Given the description of an element on the screen output the (x, y) to click on. 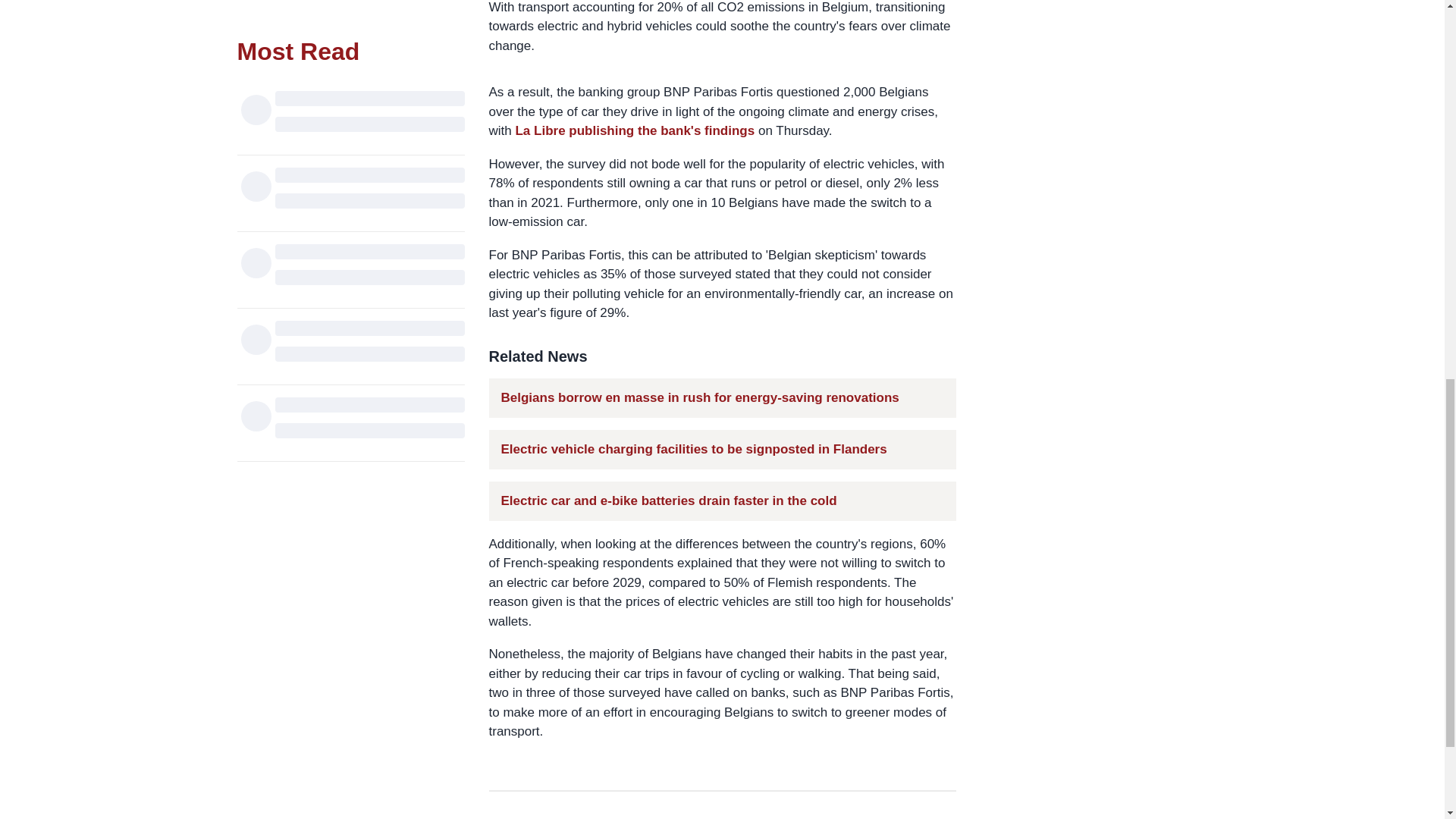
La Libre publishing the bank's findings (634, 130)
Electric car and e-bike batteries drain faster in the cold (667, 500)
